Given the description of an element on the screen output the (x, y) to click on. 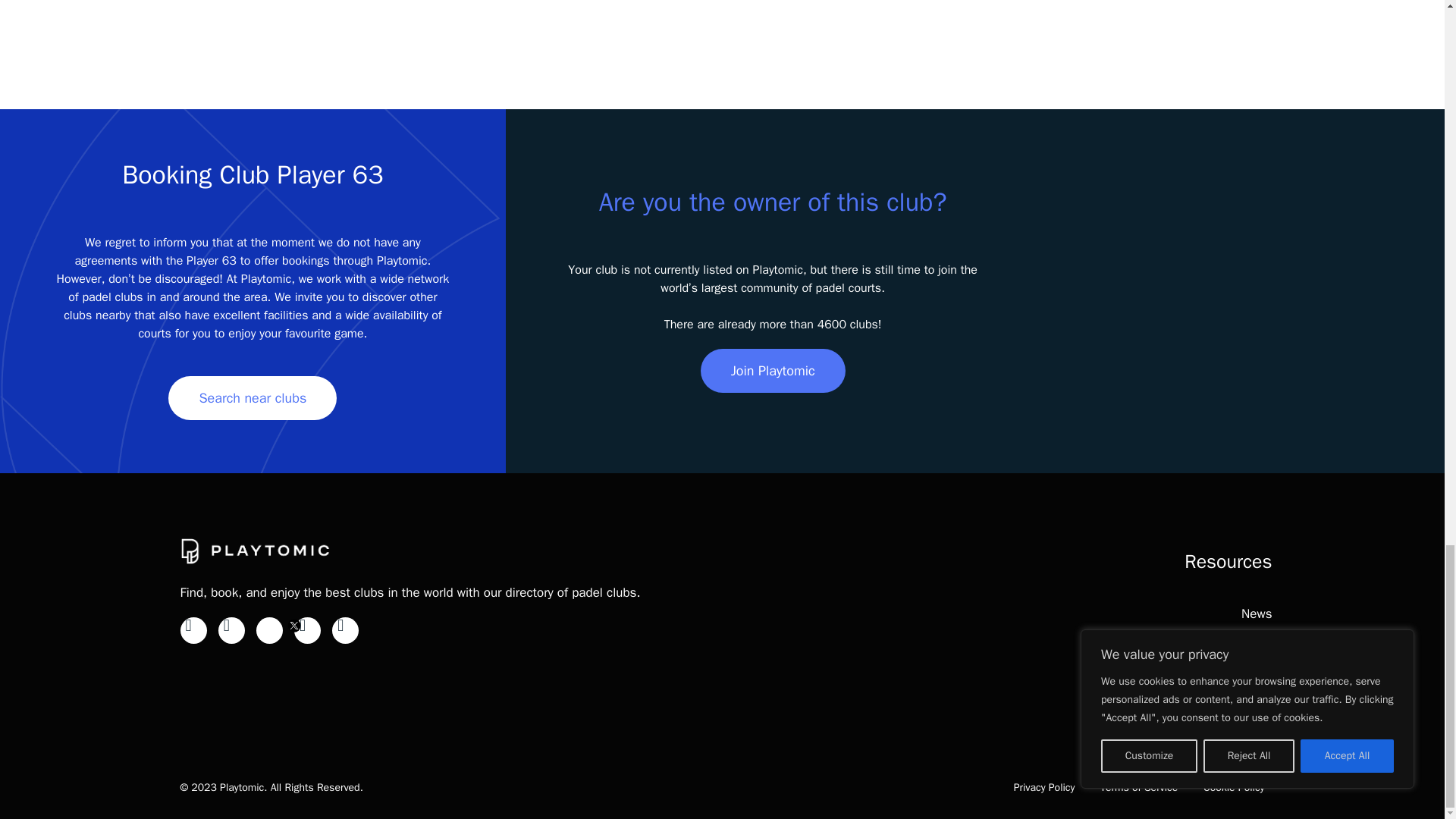
Search near clubs (252, 397)
Join Playtomic (772, 370)
News (1256, 613)
